Given the description of an element on the screen output the (x, y) to click on. 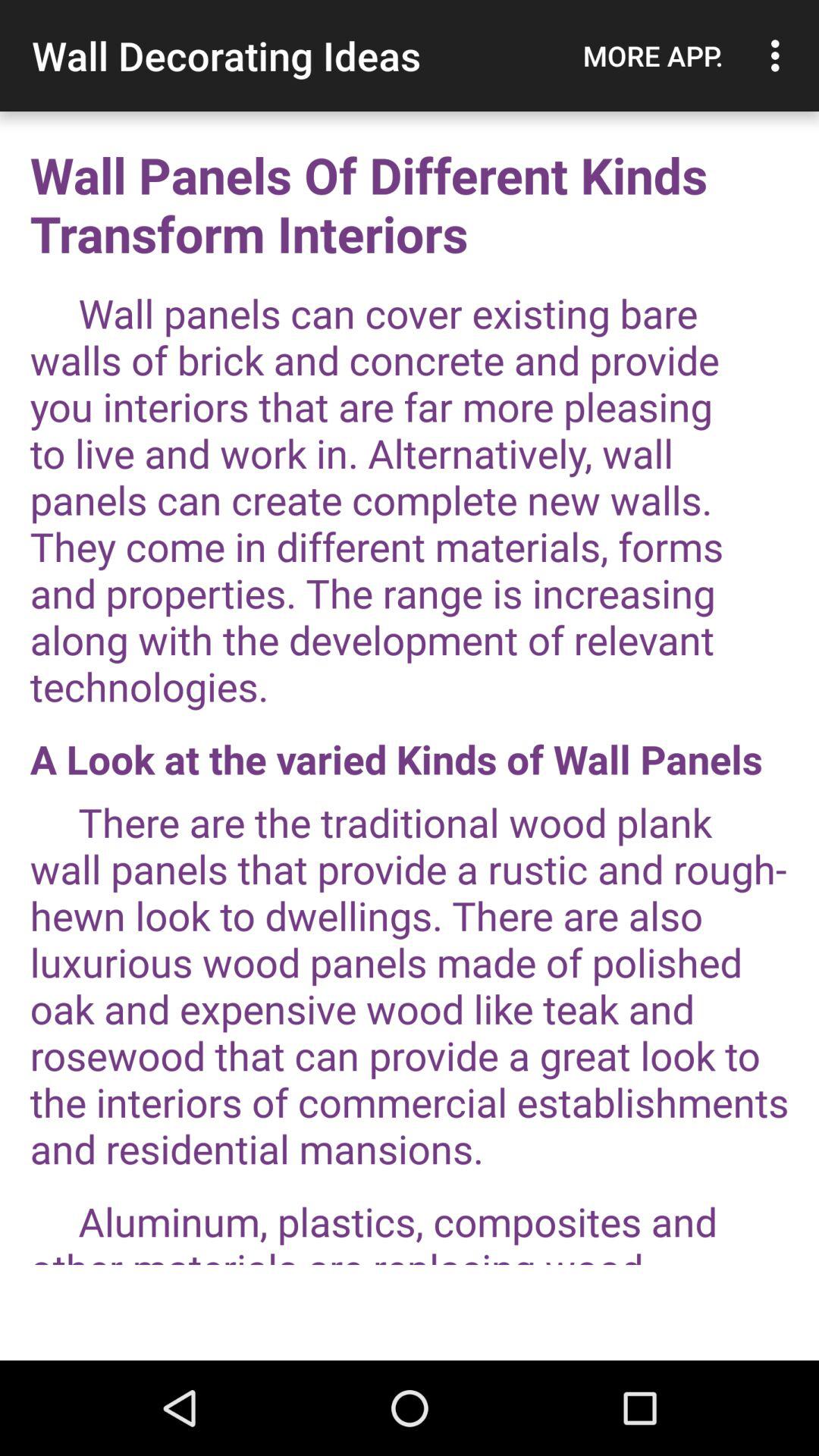
press the item next to more app. icon (779, 55)
